Given the description of an element on the screen output the (x, y) to click on. 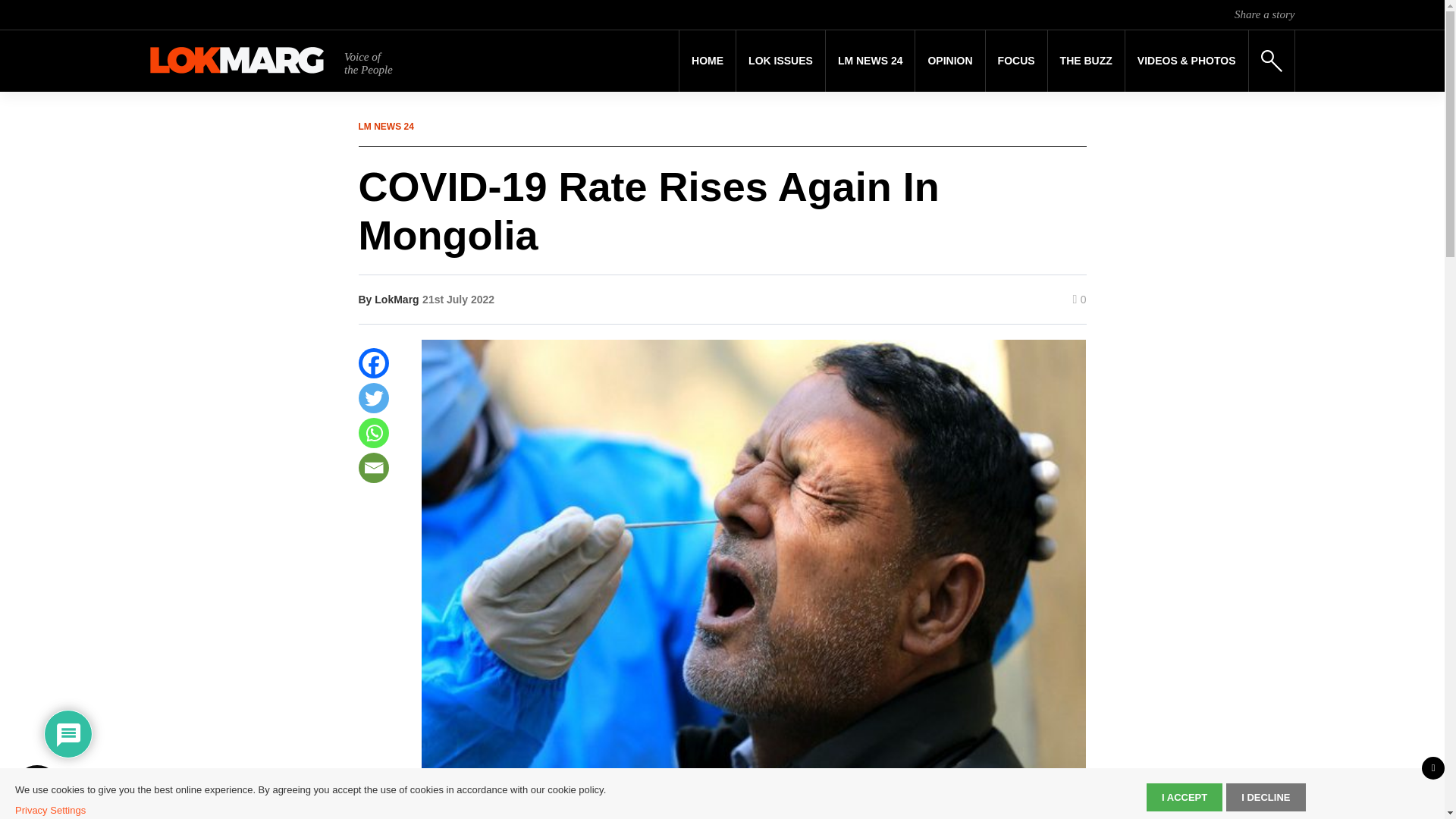
LM News 24 (870, 60)
Focus (1015, 60)
THE BUZZ (1086, 60)
OPINION (949, 60)
LOK ISSUES (780, 60)
Home (707, 60)
Share a story (1264, 14)
Lok Issues (780, 60)
Whatsapp (373, 432)
Facebook (373, 363)
Twitter (373, 398)
FOCUS (1015, 60)
Opinion (949, 60)
LokMarg (396, 299)
HOME (707, 60)
